Given the description of an element on the screen output the (x, y) to click on. 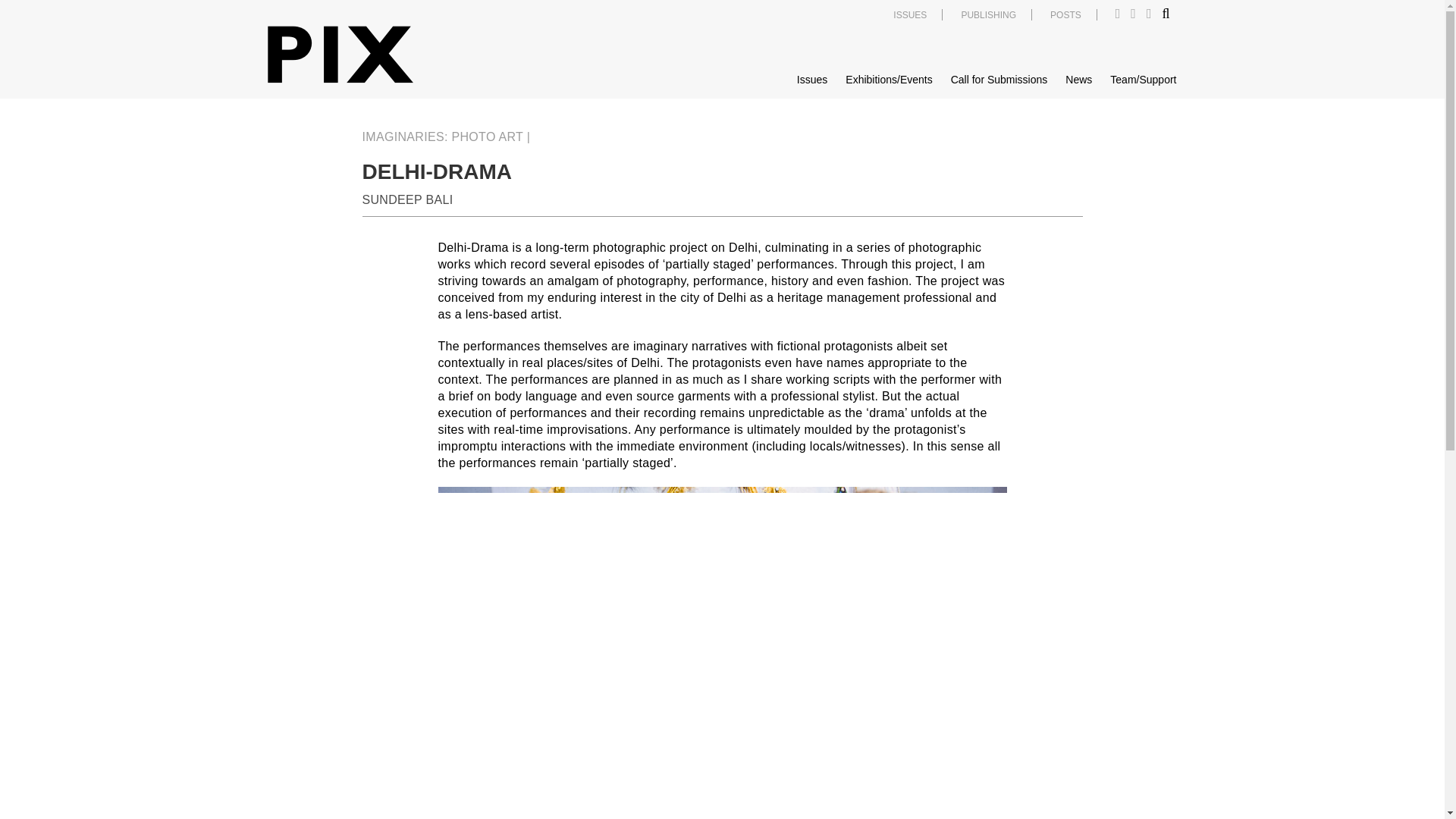
News (1078, 79)
ISSUES (909, 14)
PUBLISHING (988, 14)
PIX (339, 54)
Issues (811, 79)
PIX (339, 54)
Call for Submissions (999, 79)
POSTS (1065, 14)
